Given the description of an element on the screen output the (x, y) to click on. 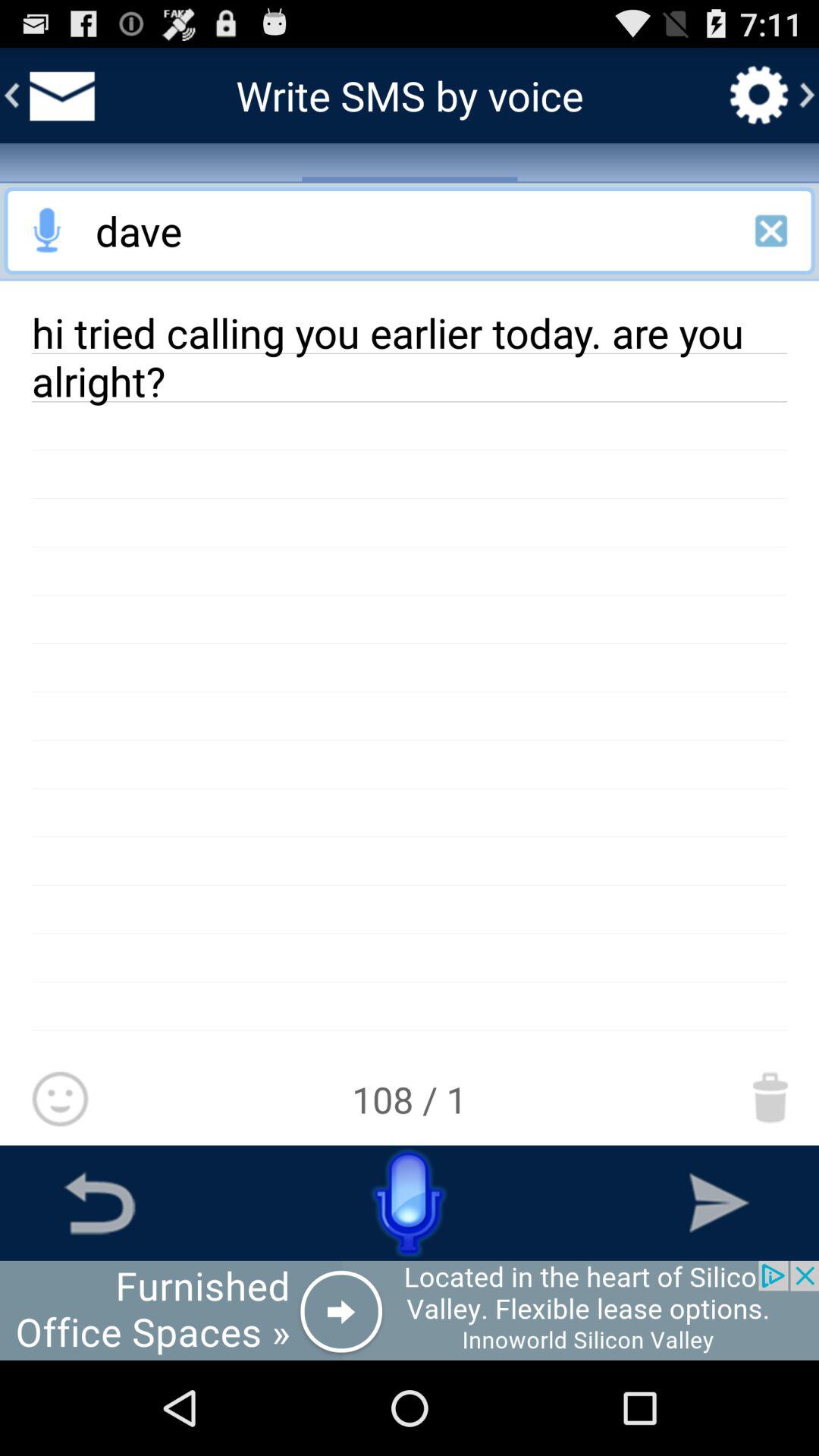
go back to inbox (59, 95)
